Given the description of an element on the screen output the (x, y) to click on. 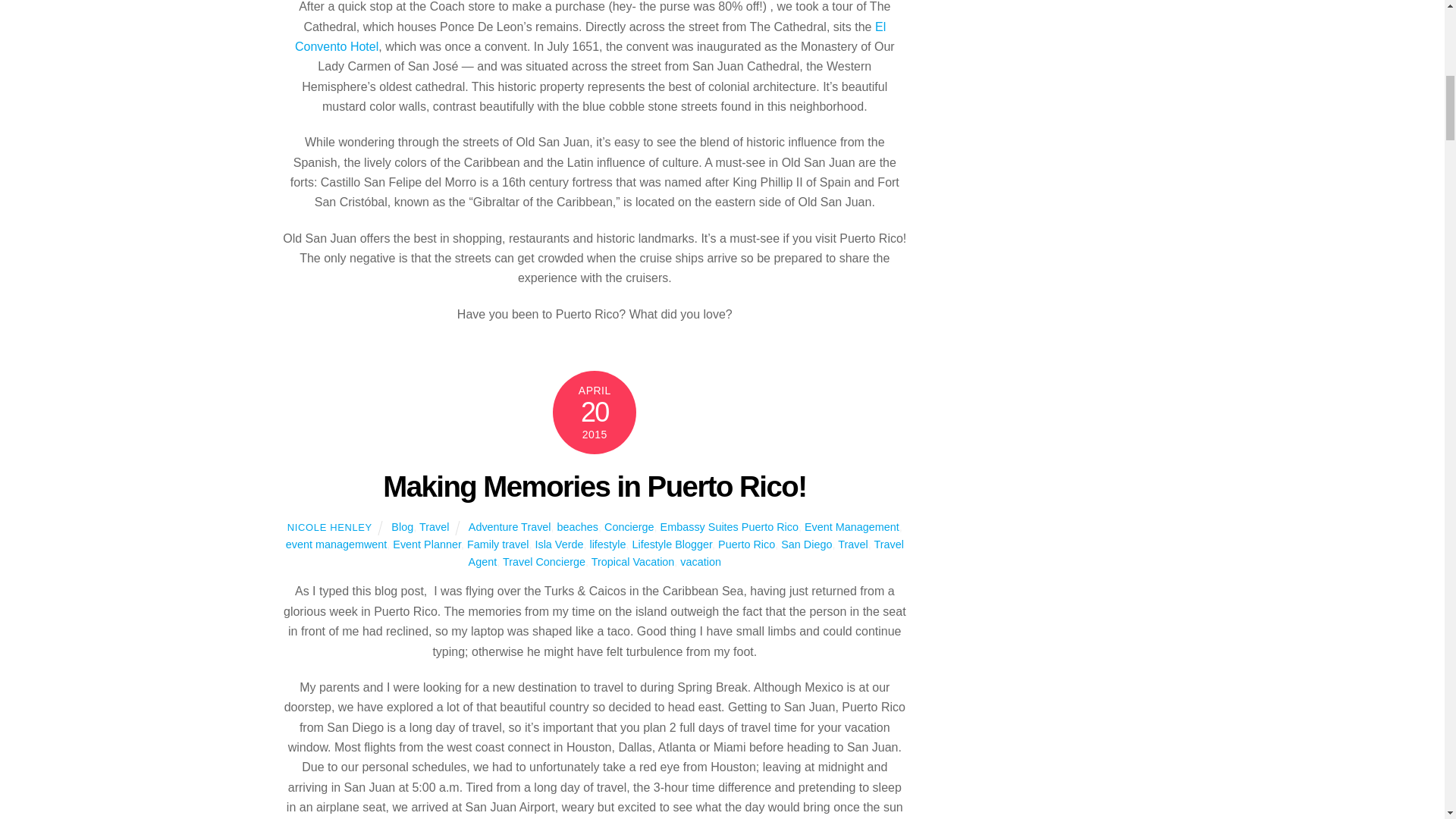
Making Memories in Puerto Rico! (594, 486)
El Convento Hotel (590, 36)
Blog (402, 526)
Travel (433, 526)
Concierge (628, 526)
beaches (577, 526)
Adventure Travel (509, 526)
NICOLE HENLEY (329, 527)
Embassy Suites Puerto Rico (729, 526)
